Given the description of an element on the screen output the (x, y) to click on. 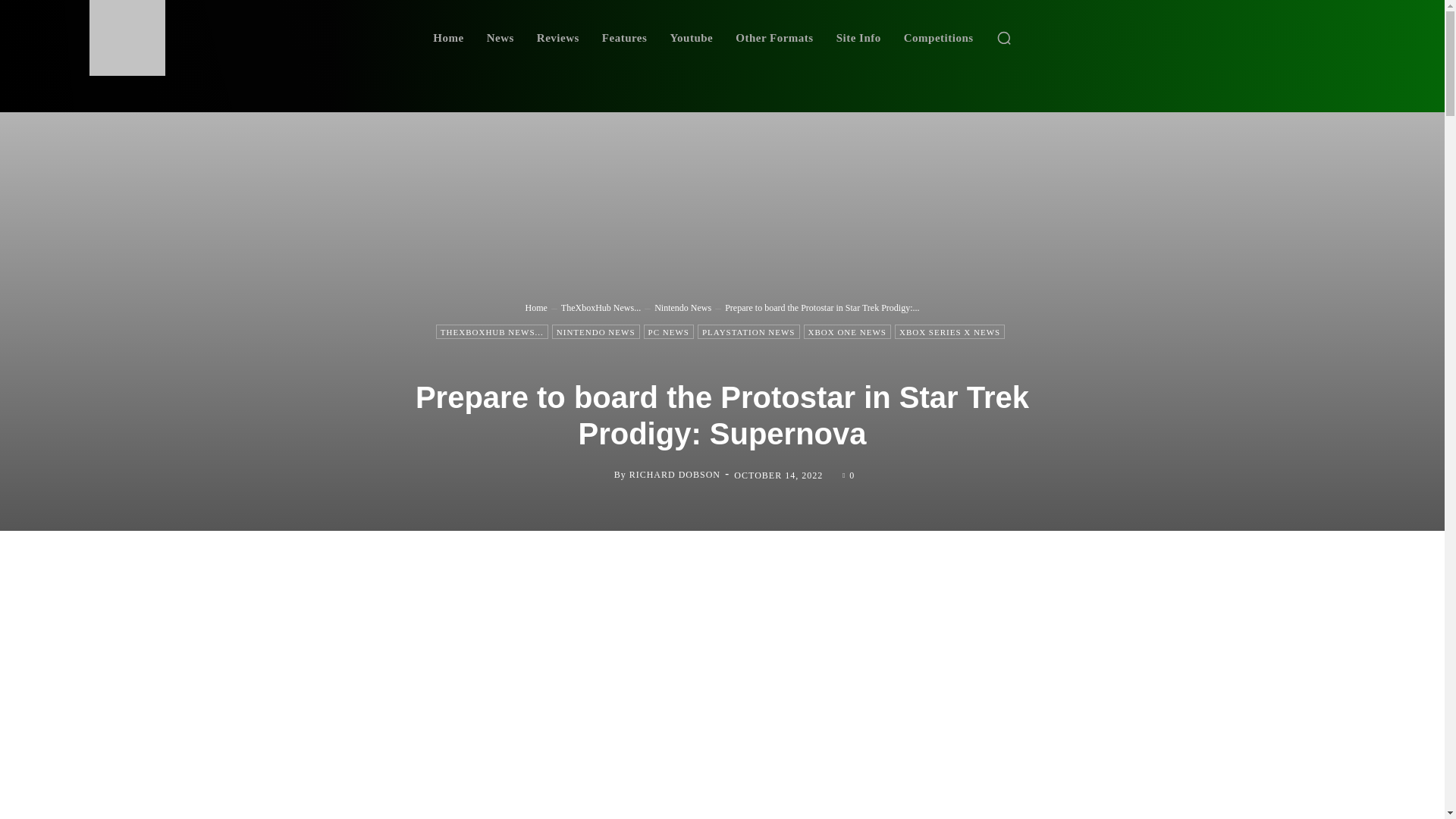
Richard Dobson (601, 474)
View all posts in Nintendo News (682, 307)
View all posts in TheXboxHub News... (600, 307)
